Given the description of an element on the screen output the (x, y) to click on. 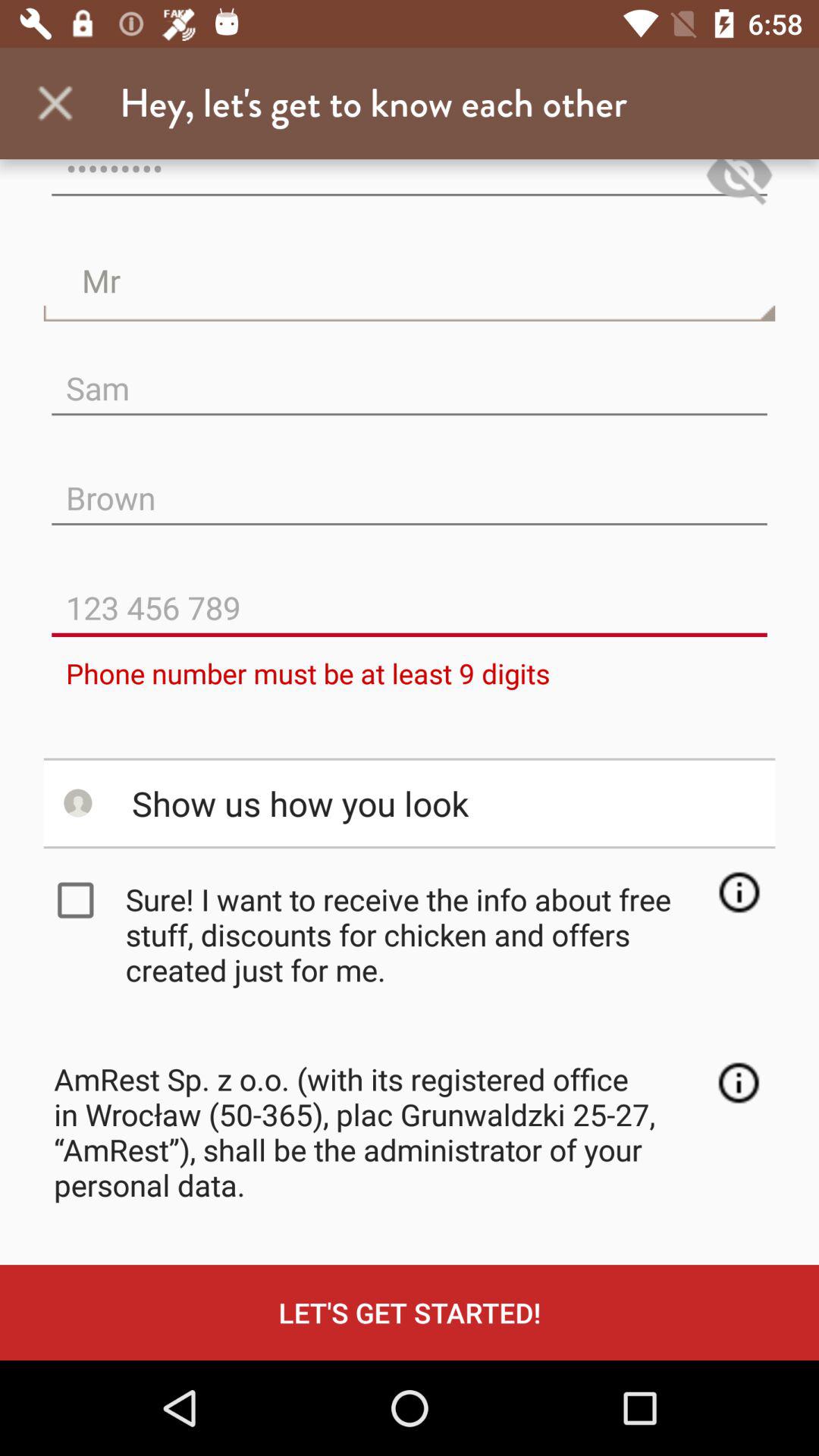
click on the text field which has sam in it (409, 375)
click on the text field which has brown in it (409, 485)
click on the info icon which is above lets get started (738, 1082)
